Given the description of an element on the screen output the (x, y) to click on. 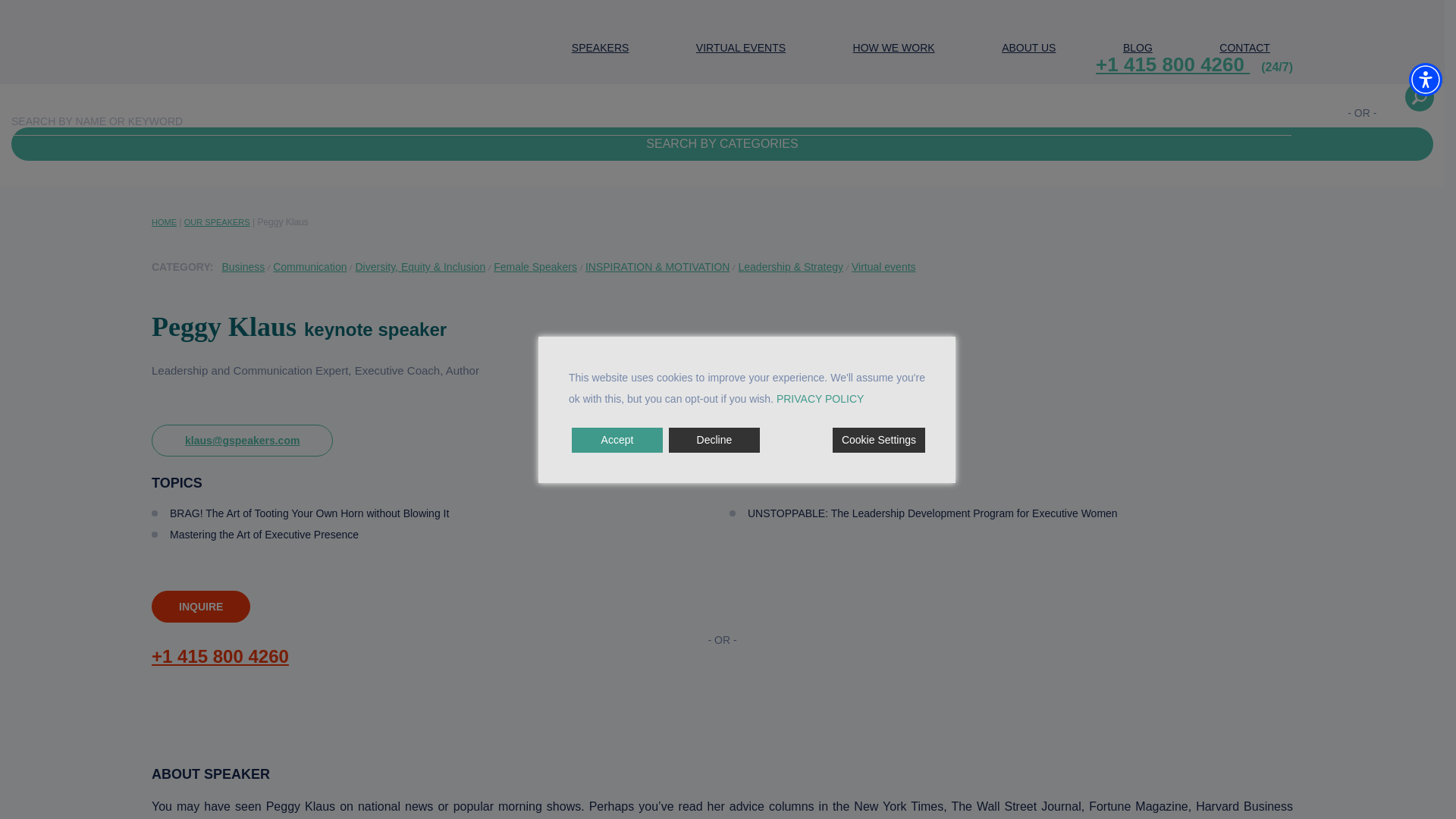
CONTACT (1244, 49)
HOW WE WORK (893, 49)
Accessibility Menu (1425, 79)
SEARCH BY CATEGORIES (721, 143)
ABOUT US (1028, 49)
SPEAKERS (600, 49)
VIRTUAL EVENTS (740, 49)
BLOG (1137, 49)
INQUIRE (200, 606)
